Given the description of an element on the screen output the (x, y) to click on. 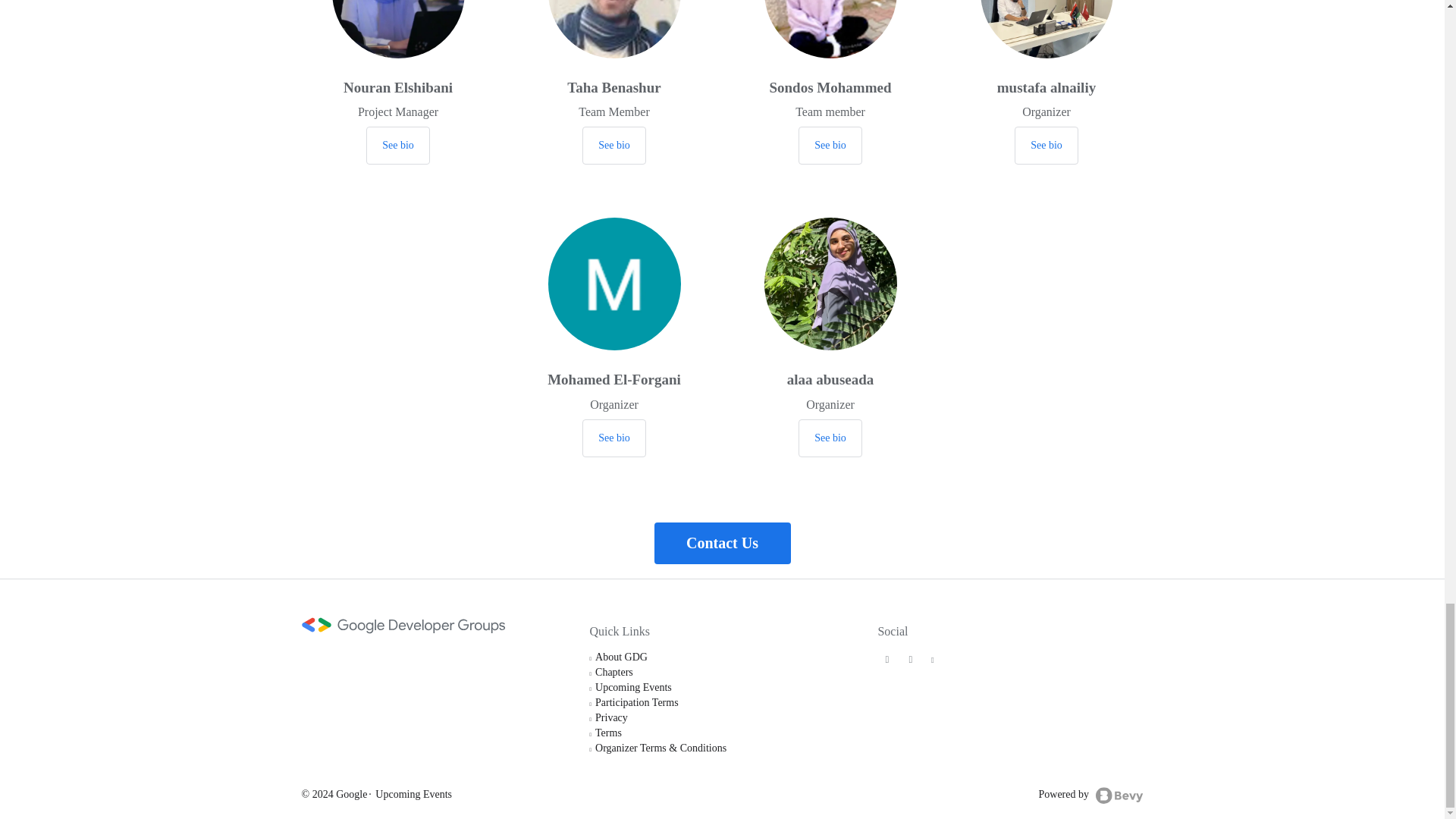
LinkedIn (910, 659)
See bio (829, 145)
YouTube (933, 659)
See bio (614, 438)
See bio (397, 145)
See bio (614, 145)
X (886, 659)
See bio (1046, 145)
See bio (829, 438)
